Given the description of an element on the screen output the (x, y) to click on. 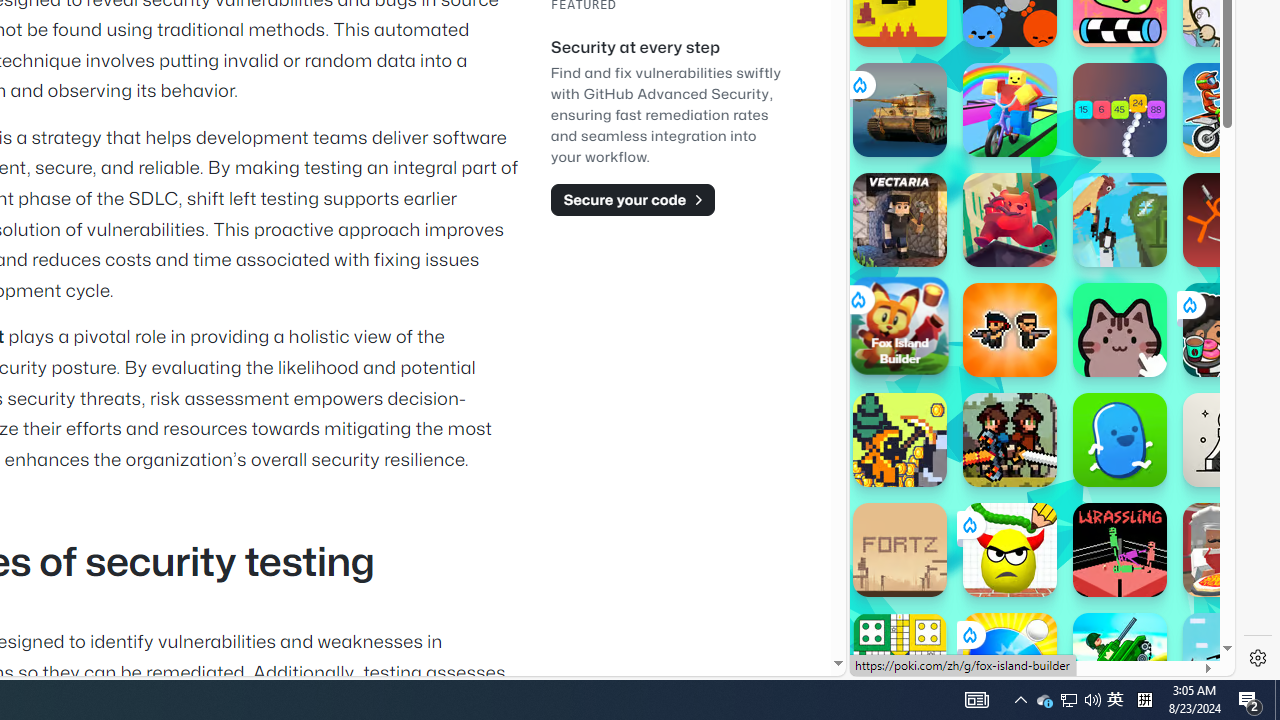
Combat Reloaded (1092, 200)
Shady Bears Shady Bears (1009, 219)
Moto X3M Moto X3M (1229, 109)
SUBWAY SURFERS - Play Online for Free! | Poki (1034, 624)
Wrassling Wrassling (1119, 549)
Ludo Multiplayer (899, 659)
Zombie Rush (1009, 329)
Getaway Shootout (1119, 219)
Fortz Fortz (899, 549)
Kate's Cooking Party 2 (1229, 329)
Ping Pong Go! Ping Pong Go! (1009, 659)
Classic Chess (1229, 439)
Hills of Steel (943, 300)
Rainbow Obby (1009, 109)
Goober World (1119, 439)
